Given the description of an element on the screen output the (x, y) to click on. 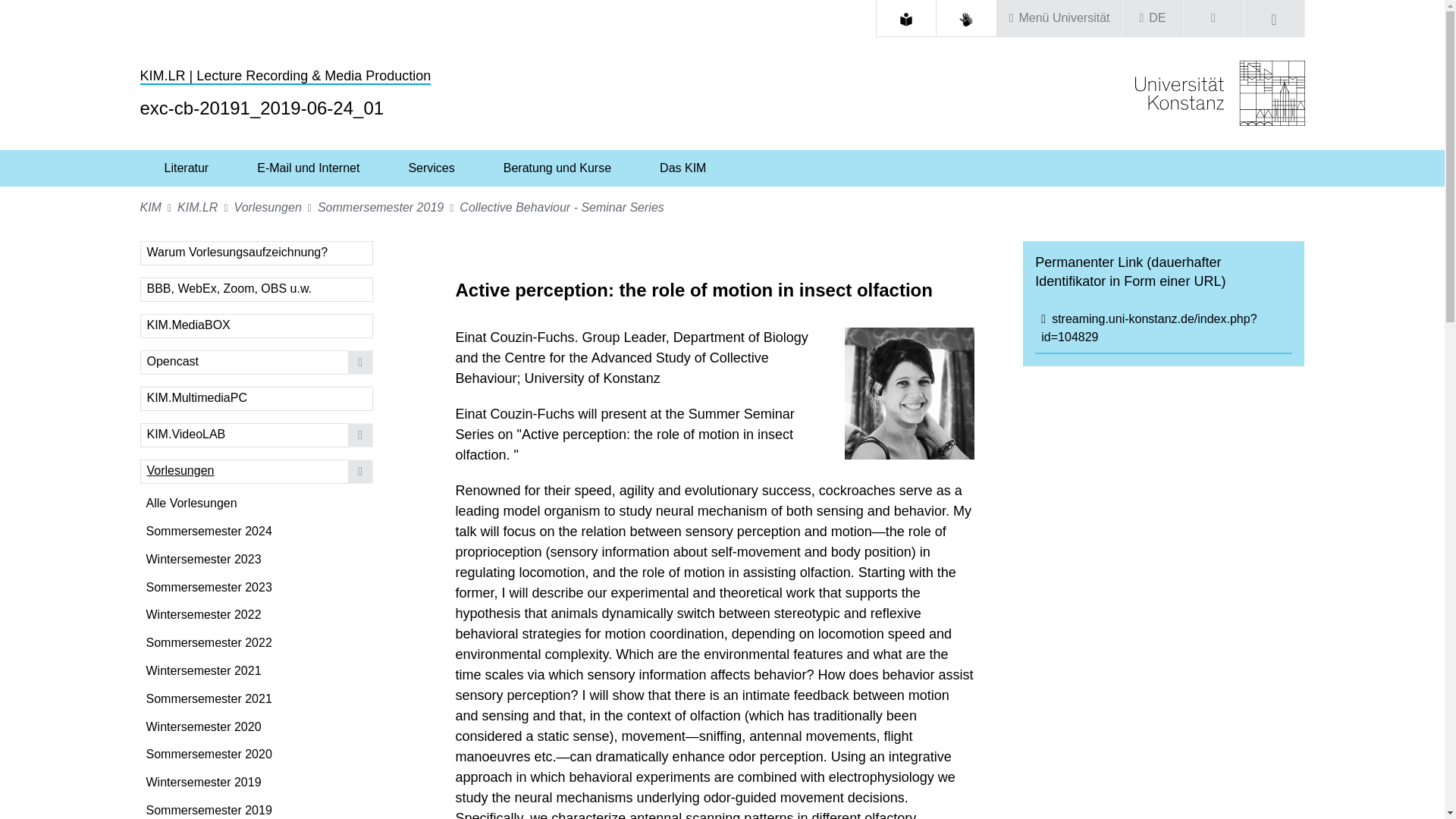
Sprache wechseln (1152, 18)
E-Mail und Internet (308, 167)
Literatur (185, 167)
Deutsch (1157, 17)
Login (1212, 18)
DE (1152, 18)
Leichte Sprache (906, 19)
